Given the description of an element on the screen output the (x, y) to click on. 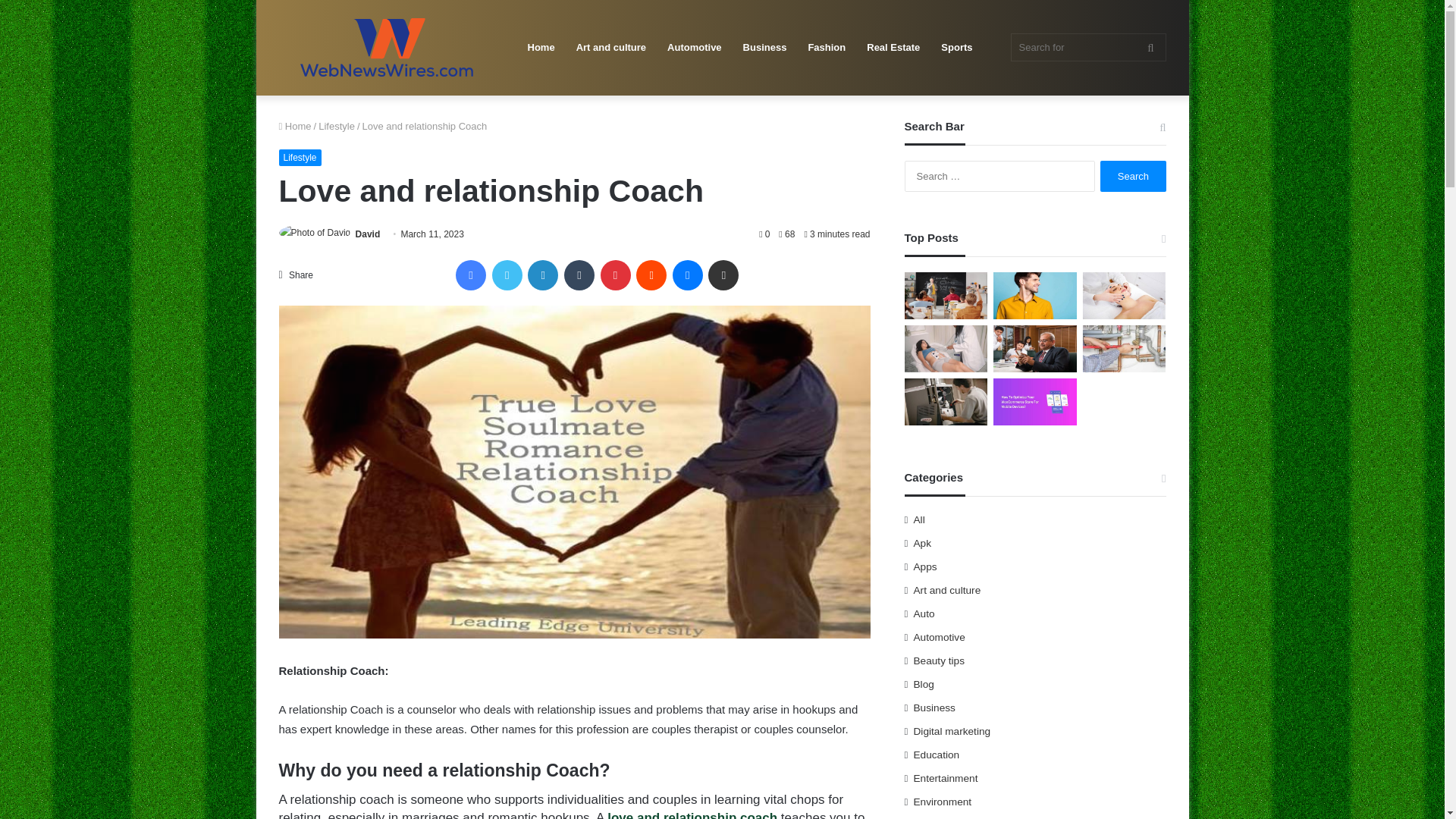
Fashion (826, 47)
webnewswires (388, 47)
Home (541, 47)
Real Estate (893, 47)
Automotive (694, 47)
Twitter (507, 275)
Facebook (470, 275)
Pinterest (614, 275)
Search (1133, 175)
Facebook (470, 275)
Business (764, 47)
Messenger (687, 275)
Sports (956, 47)
Home (295, 125)
Tumblr (579, 275)
